Given the description of an element on the screen output the (x, y) to click on. 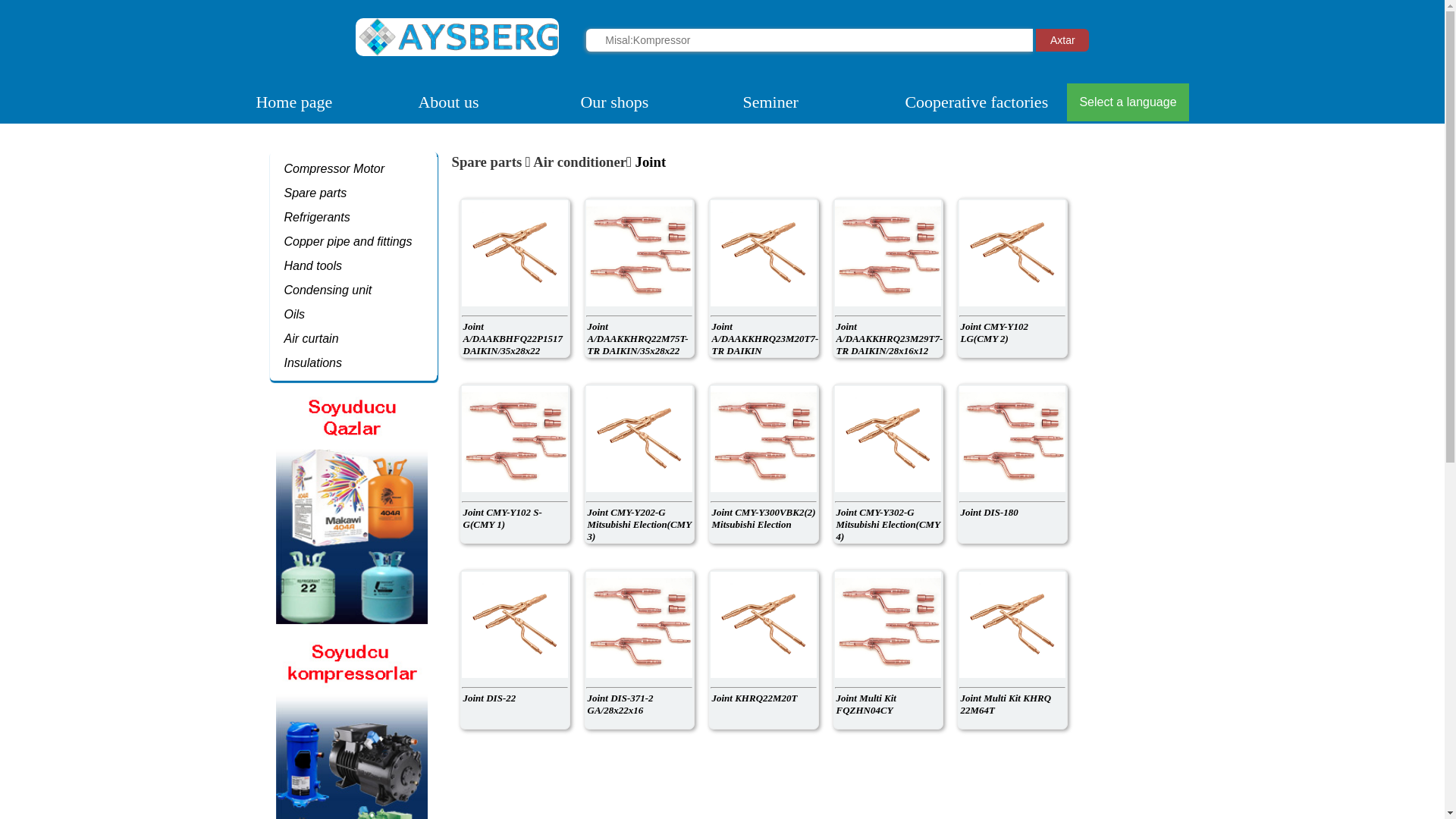
Joint KHRQ22M20T Element type: text (762, 649)
Spare parts Element type: text (315, 192)
Condensing unit Element type: text (328, 289)
Air conditioner Element type: text (579, 161)
Refrigerants Element type: text (317, 217)
Oils Element type: text (294, 314)
Air curtain Element type: text (311, 338)
Joint DIS-22 Element type: text (513, 649)
About us Element type: text (447, 101)
Compressor Motor Element type: text (334, 168)
Home page Element type: text (293, 101)
Joint DIS-180 Element type: text (1011, 463)
Joint CMY-Y102 S-G(CMY 1) Element type: text (513, 463)
Joint CMY-Y302-G Mitsubishi Election(CMY 4) Element type: text (886, 463)
Joint DIS-371-2 GA/28x22x16 Element type: text (638, 649)
Joint A/DAAKKHRQ23M20T7-TR DAIKIN Element type: text (762, 277)
Joint Multi Kit FQZHN04CY Element type: text (886, 649)
Seminer Element type: text (769, 101)
Axtar Element type: text (1061, 39)
Joint A/DAAKKHRQ22M75T-TR DAIKIN/35x28x22 Element type: text (638, 277)
Insulations Element type: text (313, 362)
Copper pipe and fittings Element type: text (348, 241)
Select a language Element type: text (1127, 102)
Our shops Element type: text (614, 101)
Joint CMY-Y300VBK2(2) Mitsubishi Election Element type: text (762, 463)
Joint A/DAAKKHRQ23M29T7-TR DAIKIN/28x16x12 Element type: text (886, 277)
Joint CMY-Y102 LG(CMY 2) Element type: text (1011, 277)
Joint Multi Kit KHRQ 22M64T Element type: text (1011, 649)
Cooperative factories Element type: text (976, 101)
Hand tools Element type: text (313, 265)
Joint CMY-Y202-G Mitsubishi Election(CMY 3) Element type: text (638, 463)
Joint A/DAAKBHFQ22P1517 DAIKIN/35x28x22 Element type: text (513, 277)
Spare parts Element type: text (486, 161)
